Given the description of an element on the screen output the (x, y) to click on. 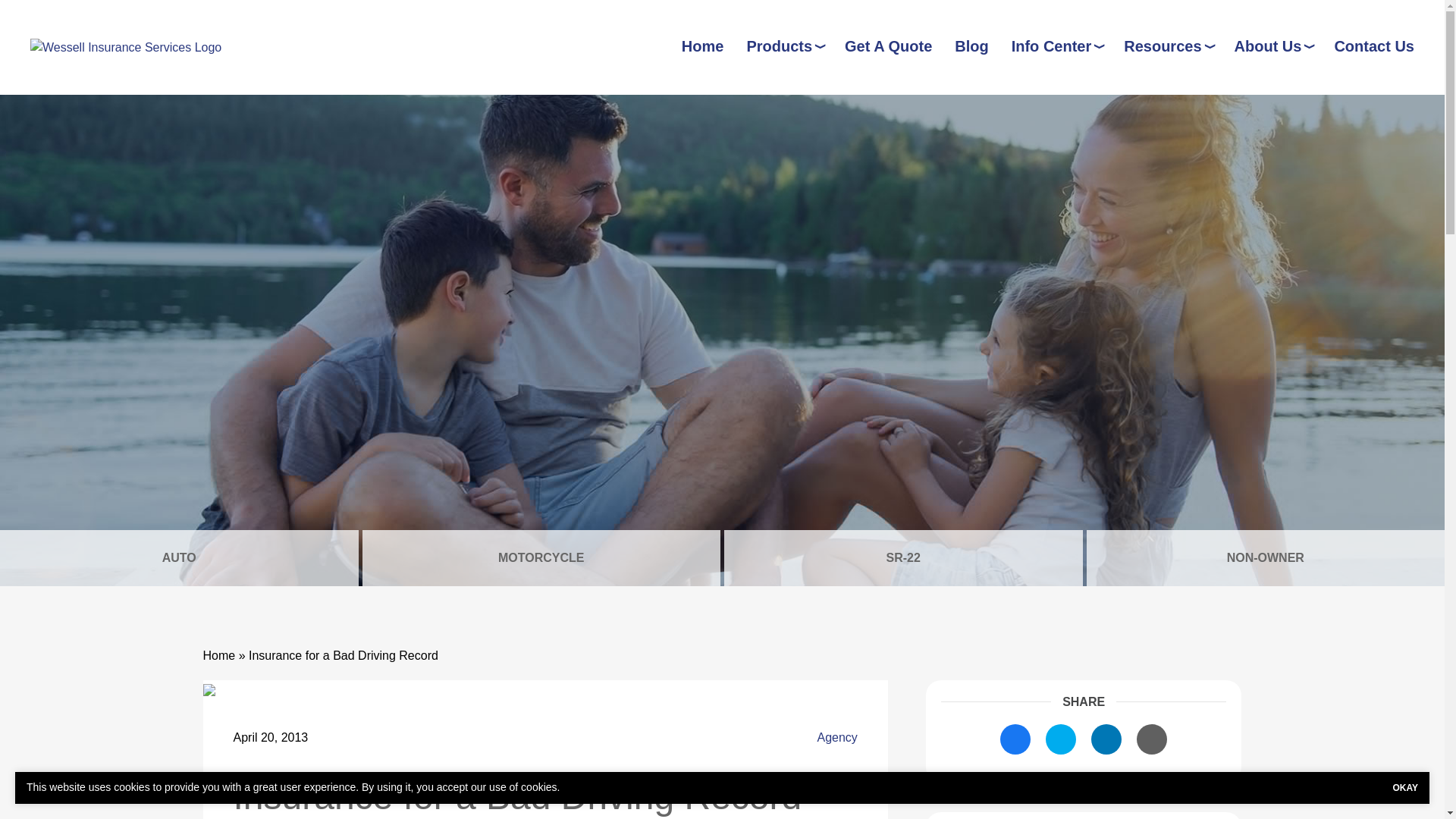
Products (783, 46)
Contact Us (1373, 46)
Agency (836, 737)
AUTO (179, 557)
SR-22 (903, 557)
Home (702, 46)
Resources (1167, 46)
Get A Quote (887, 46)
Info Center (1056, 46)
MOTORCYCLE (541, 557)
Blog (971, 46)
About Us (1272, 46)
